Given the description of an element on the screen output the (x, y) to click on. 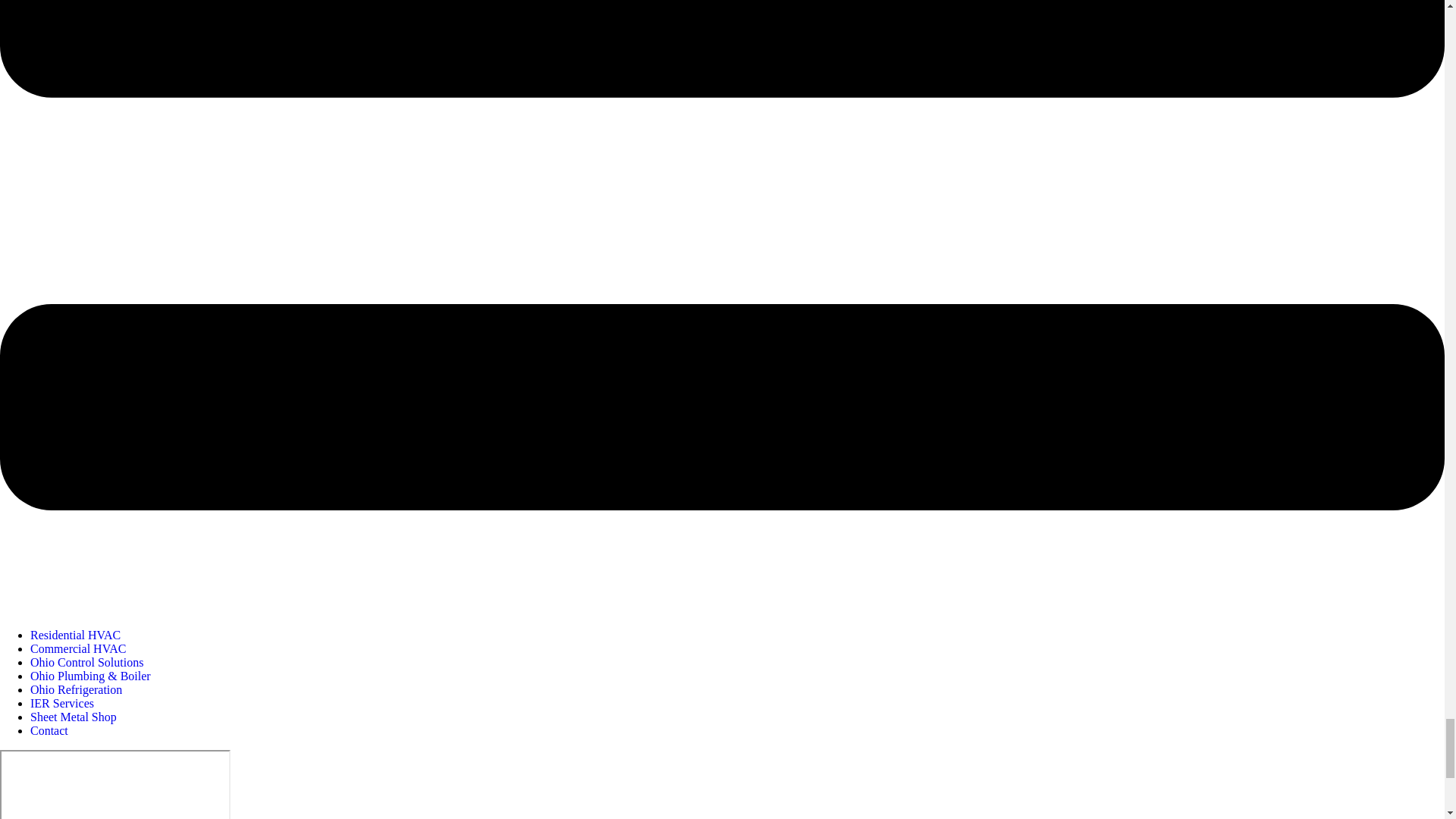
1624 CLARA STREET COLUMBUS OH 43211 (115, 784)
